Given the description of an element on the screen output the (x, y) to click on. 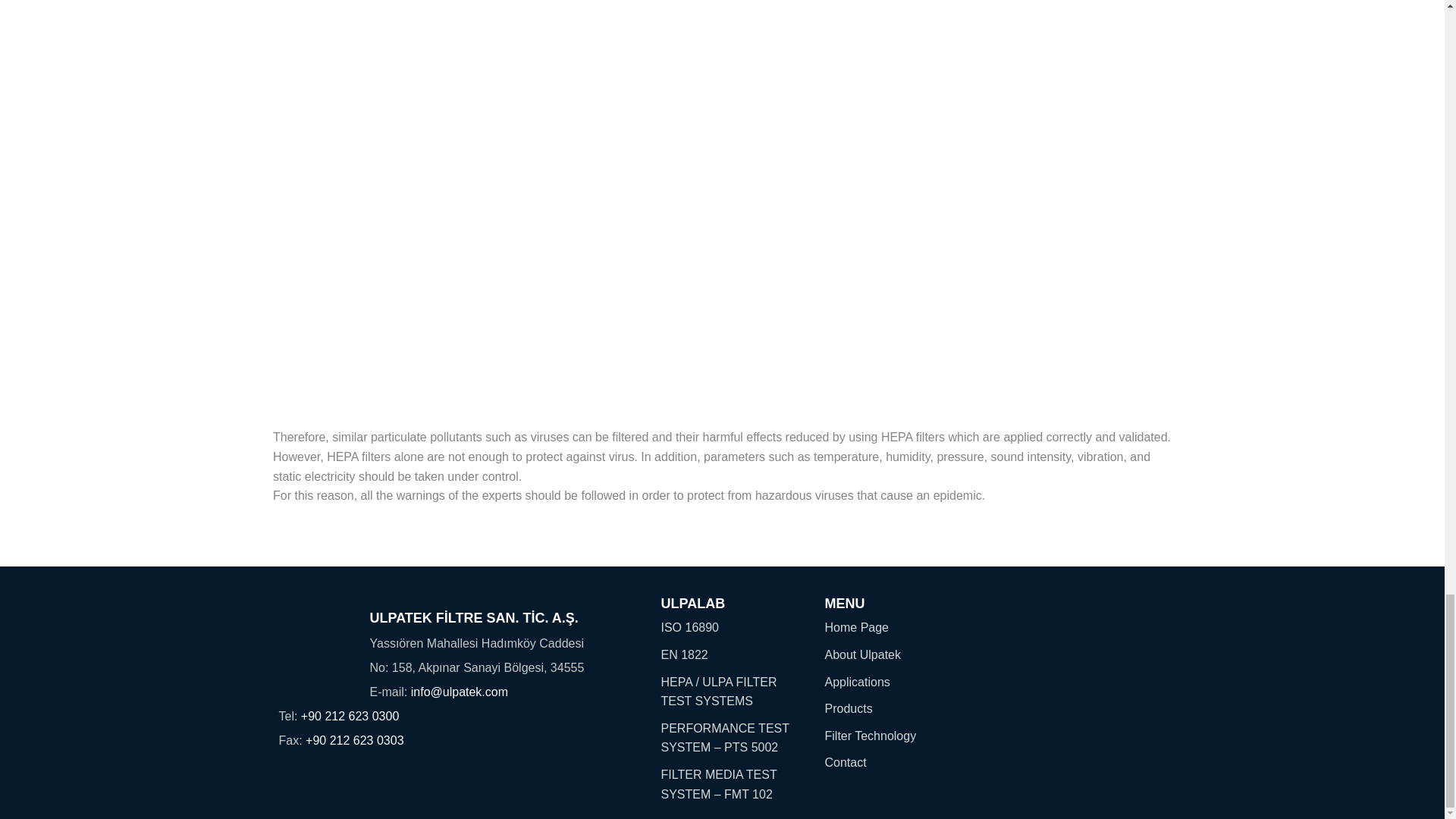
About Ulpatek (904, 655)
EN 1822 (731, 655)
Contact (904, 762)
Home Page (904, 628)
Products (904, 709)
Applications (904, 682)
ISO 16890 (731, 628)
Filter Technology (904, 736)
